Given the description of an element on the screen output the (x, y) to click on. 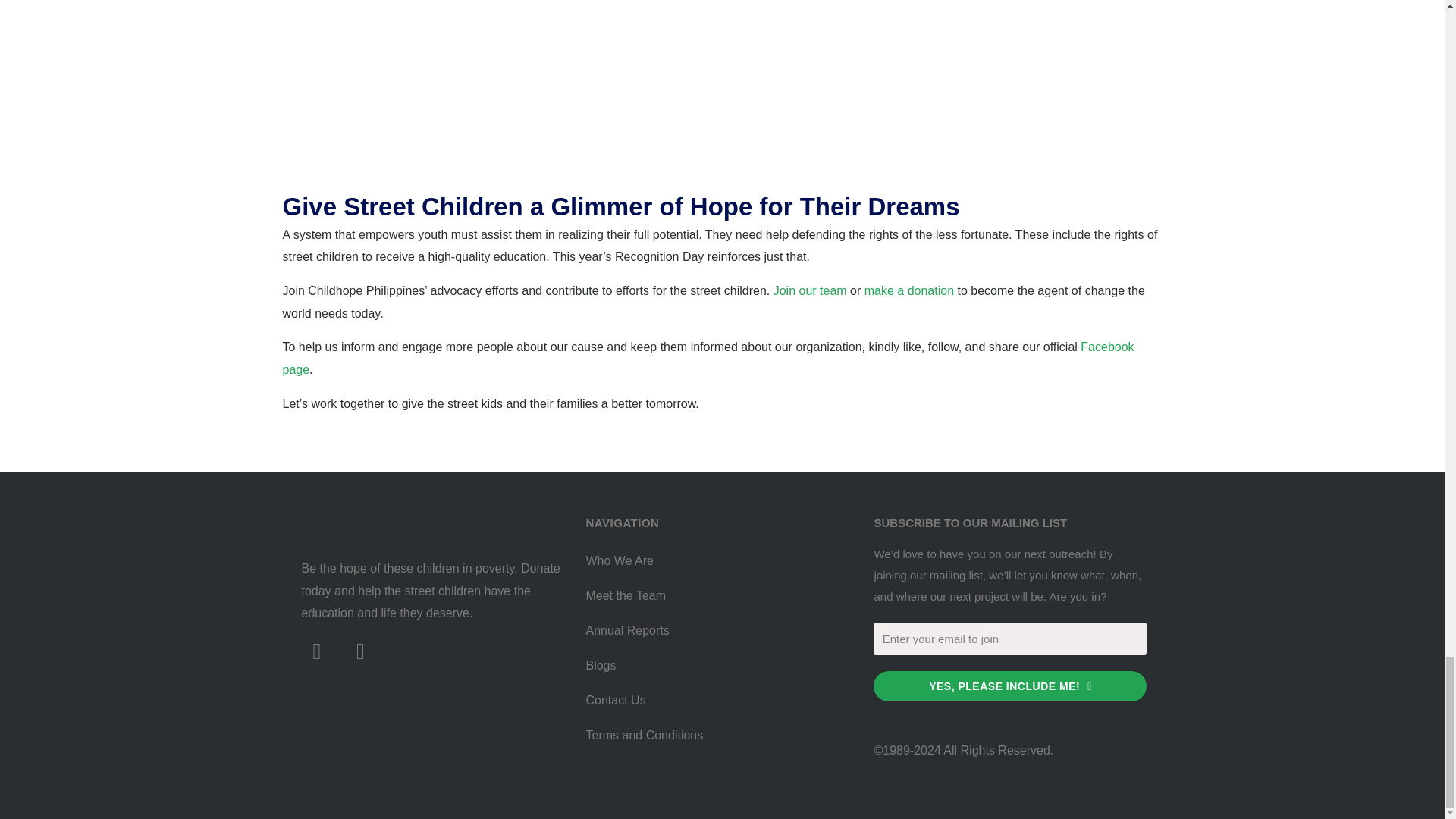
Blogs (714, 665)
Contact Us (714, 700)
Terms and Conditions (714, 735)
make a donation (908, 290)
Facebook page (708, 357)
Annual Reports (714, 630)
Who We Are (714, 560)
Join our team (810, 290)
Meet the Team (714, 595)
